Given the description of an element on the screen output the (x, y) to click on. 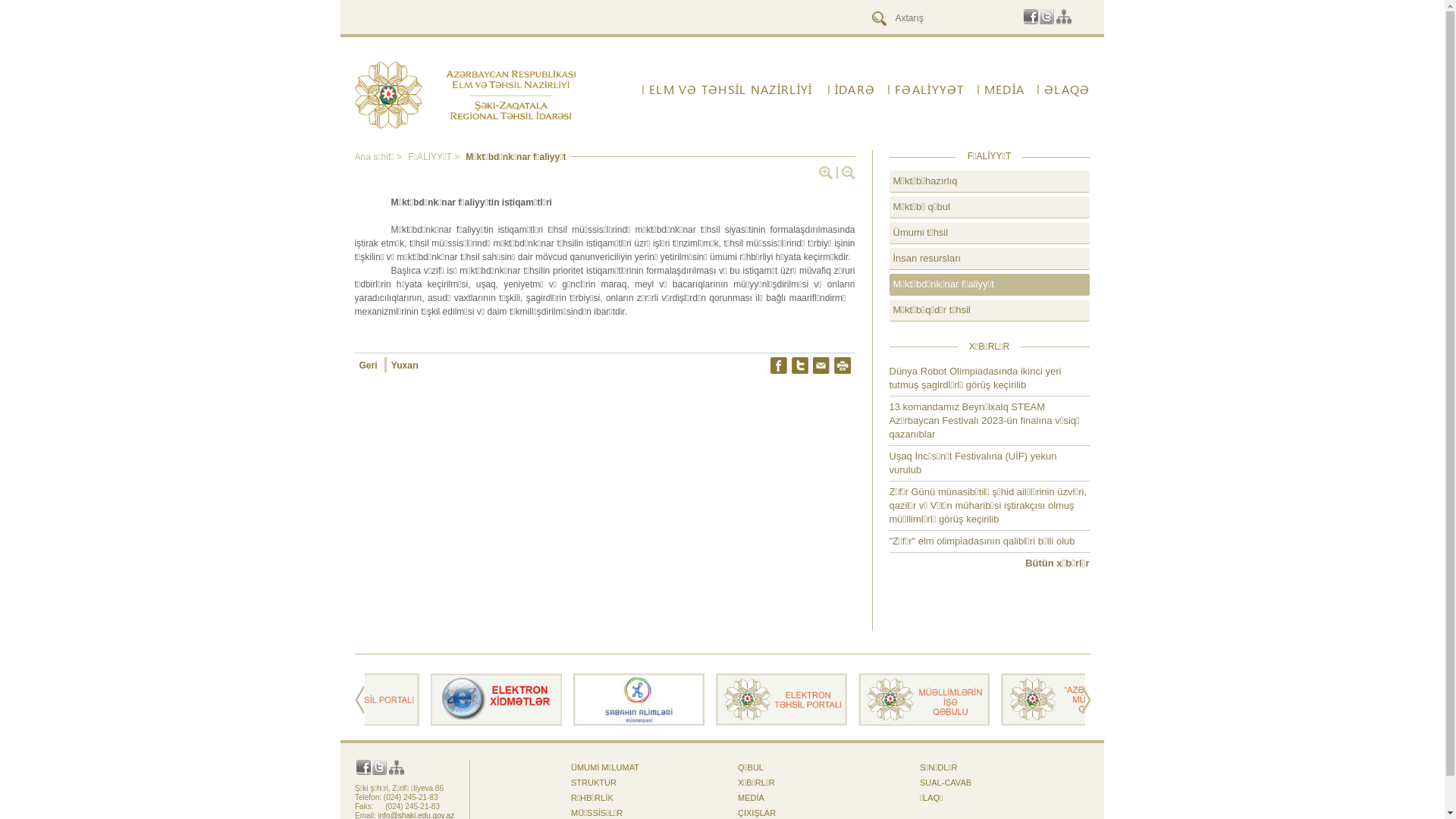
Prev Element type: text (359, 699)
MEDIA Element type: text (750, 797)
Geri Element type: text (370, 364)
MEDIA Element type: text (1000, 89)
STRUKTUR Element type: text (593, 782)
Next Element type: text (1086, 699)
SUAL-CAVAB Element type: text (945, 782)
